Given the description of an element on the screen output the (x, y) to click on. 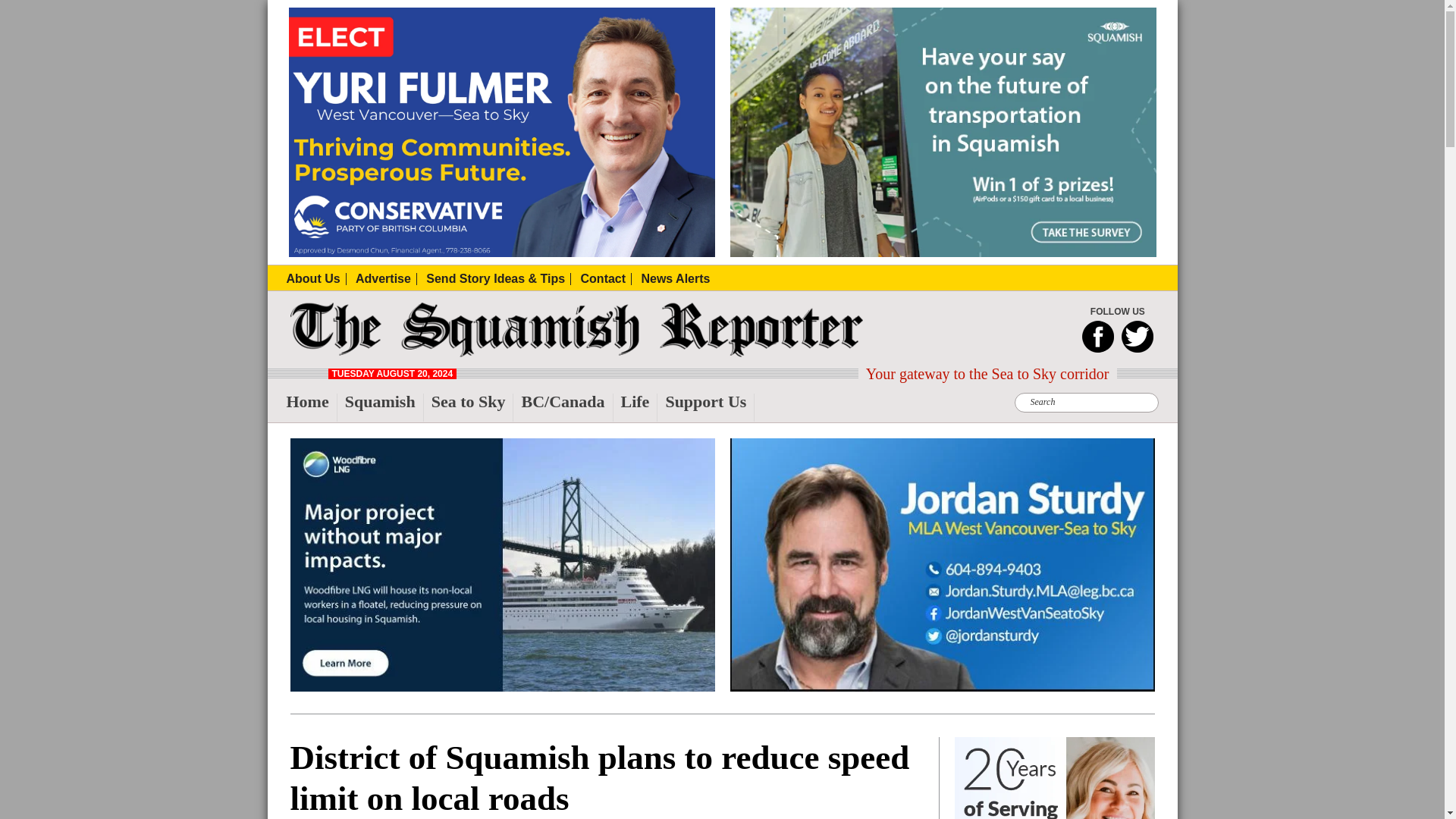
Home (311, 407)
Life (639, 407)
Sea to Sky (471, 407)
The Squamish Reporter (321, 351)
Squamish (384, 407)
Support Us (709, 407)
About Us (316, 278)
News Alerts (675, 278)
Search (455, 9)
Contact (605, 278)
